Given the description of an element on the screen output the (x, y) to click on. 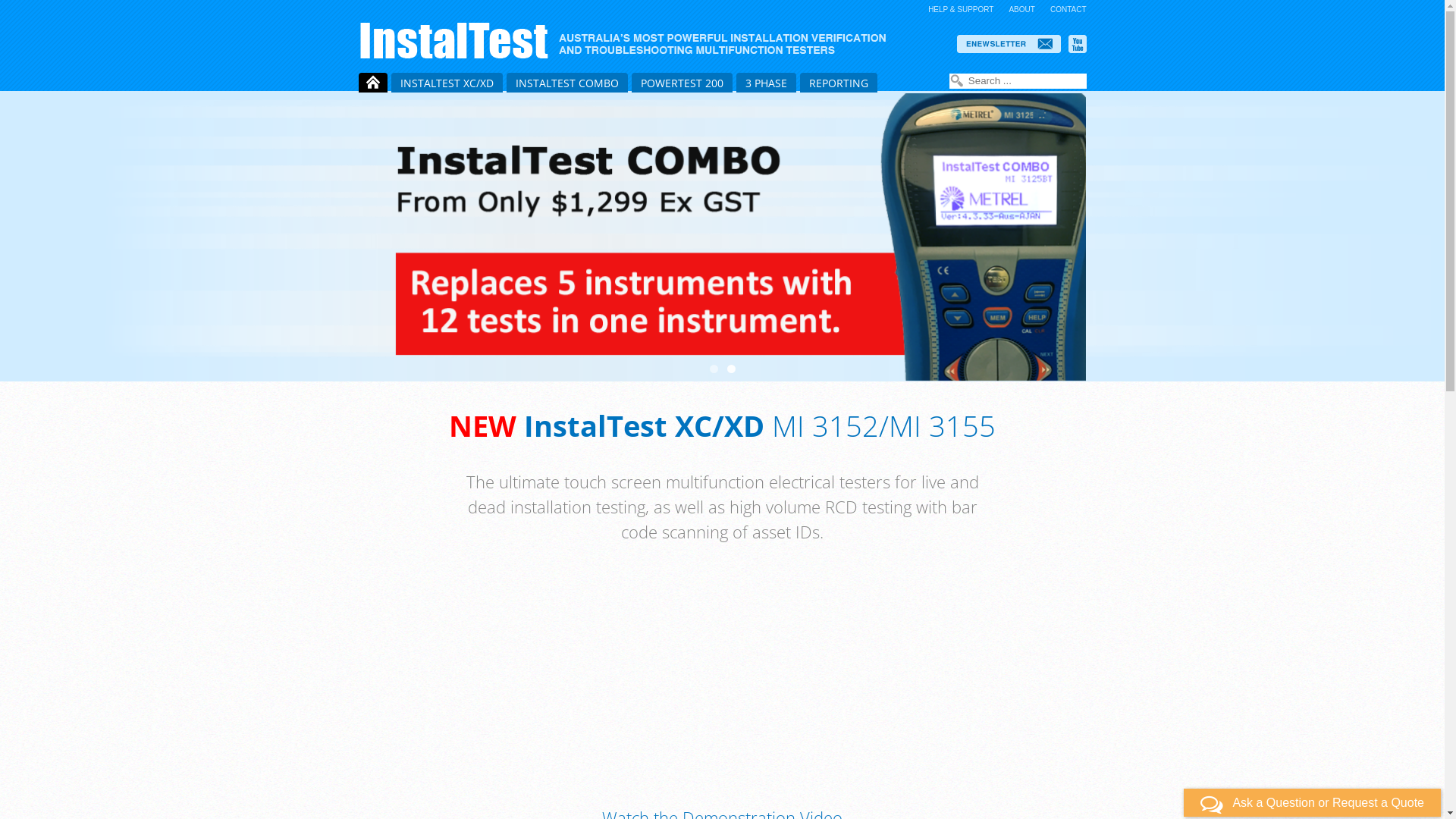
INSTALTEST XC/XD Element type: text (446, 82)
1 Element type: text (713, 368)
HOME Element type: text (371, 82)
CONTACT Element type: text (1068, 9)
POWERTEST 200 Element type: text (680, 82)
REPORTING Element type: text (837, 82)
INSTALTEST COMBO Element type: text (566, 82)
HELP & SUPPORT Element type: text (960, 9)
  Ask a Question or Request a Quote Element type: text (1311, 802)
3 PHASE Element type: text (765, 82)
Emona Instruments Element type: text (628, 39)
Search Element type: text (956, 80)
ABOUT Element type: text (1021, 9)
2 Element type: text (730, 368)
